Given the description of an element on the screen output the (x, y) to click on. 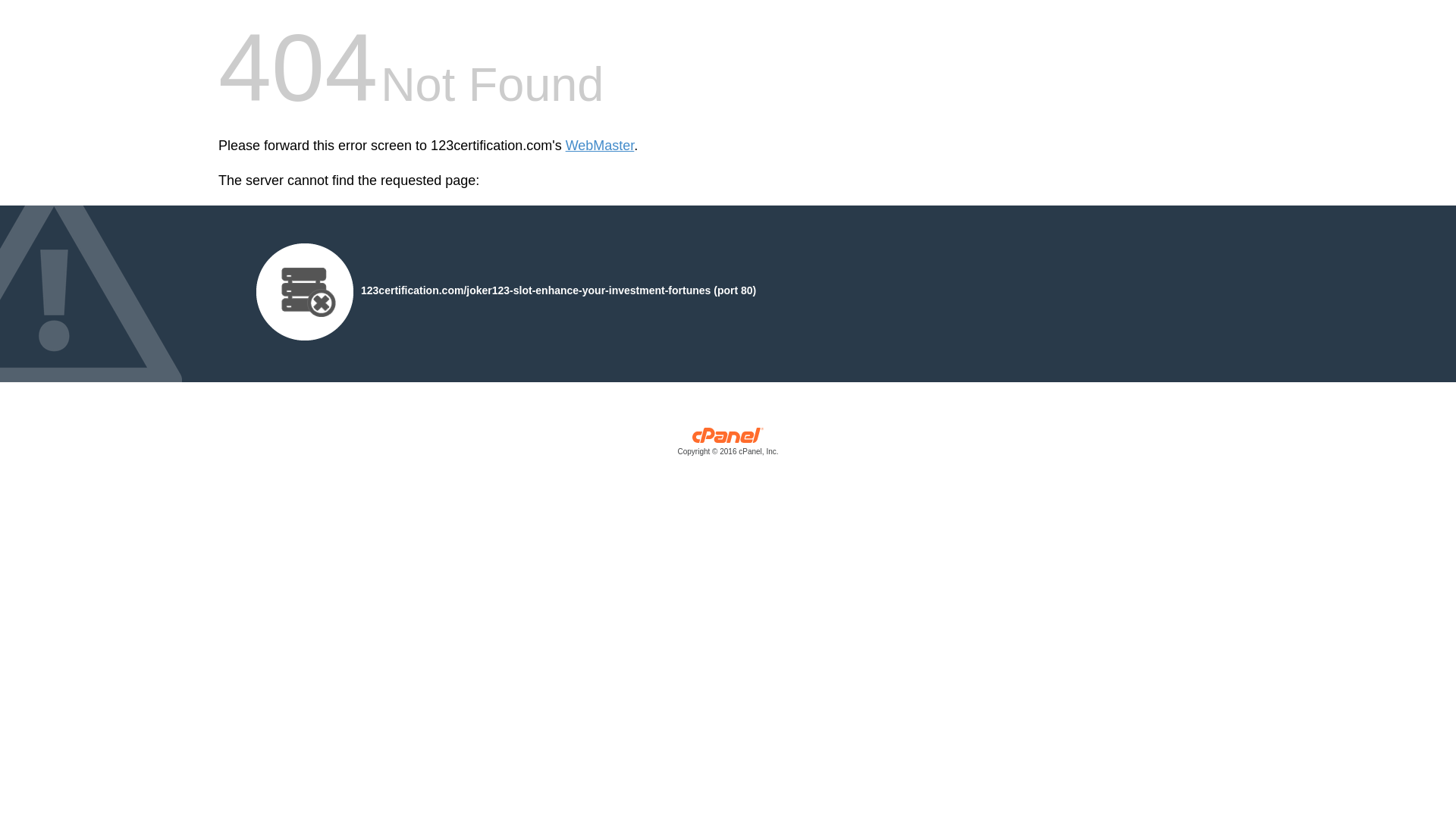
WebMaster Element type: text (599, 145)
